Given the description of an element on the screen output the (x, y) to click on. 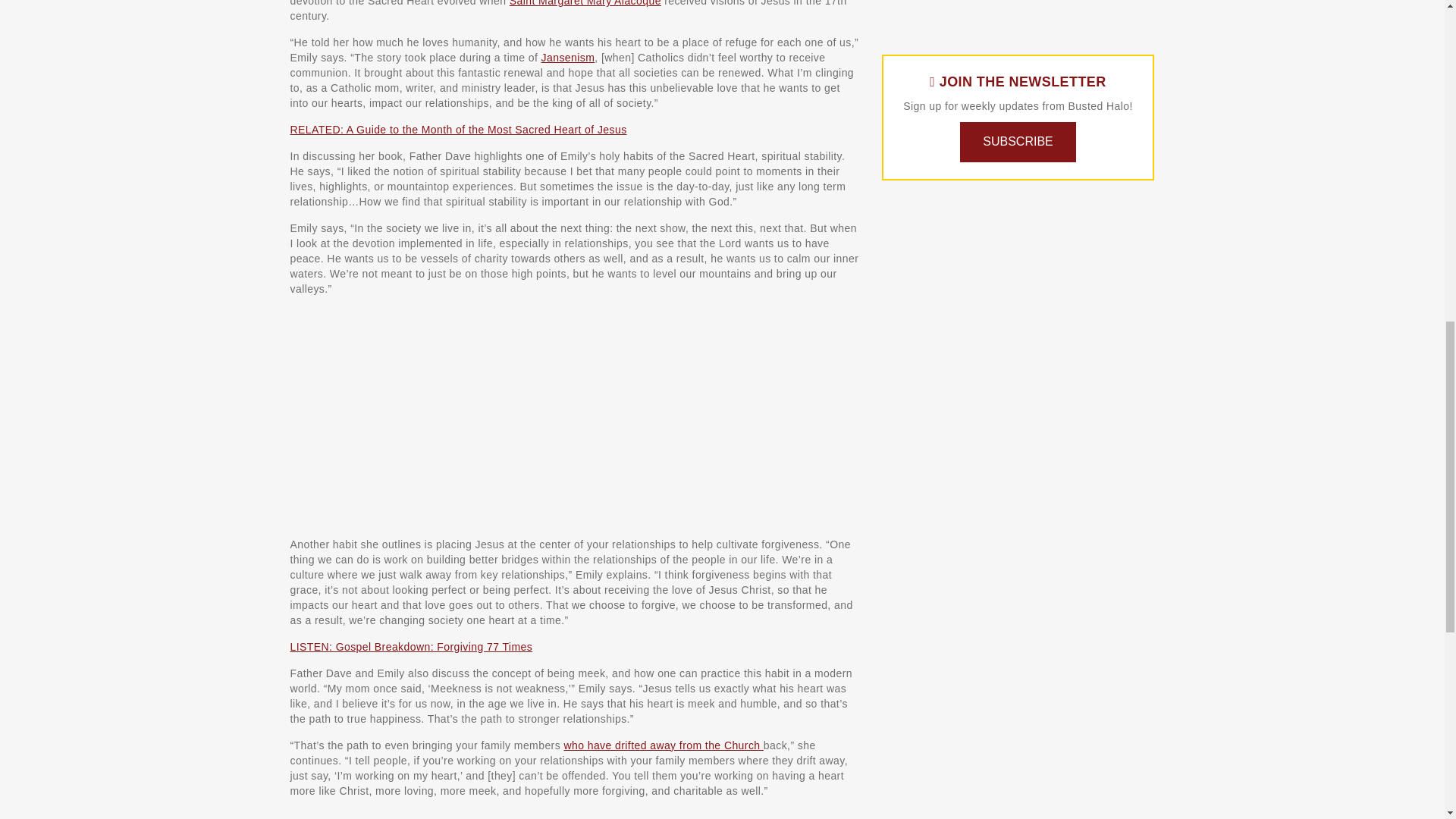
LISTEN: Gospel Breakdown: Forgiving 77 Times (410, 646)
SUBSCRIBE (1017, 142)
SUBSCRIBE (1017, 141)
Emily Jaminet Interview (478, 414)
who have drifted away from the Church (662, 745)
Jansenism (568, 57)
Saint Margaret Mary Alacoque (585, 3)
Embed Player (574, 814)
